Given the description of an element on the screen output the (x, y) to click on. 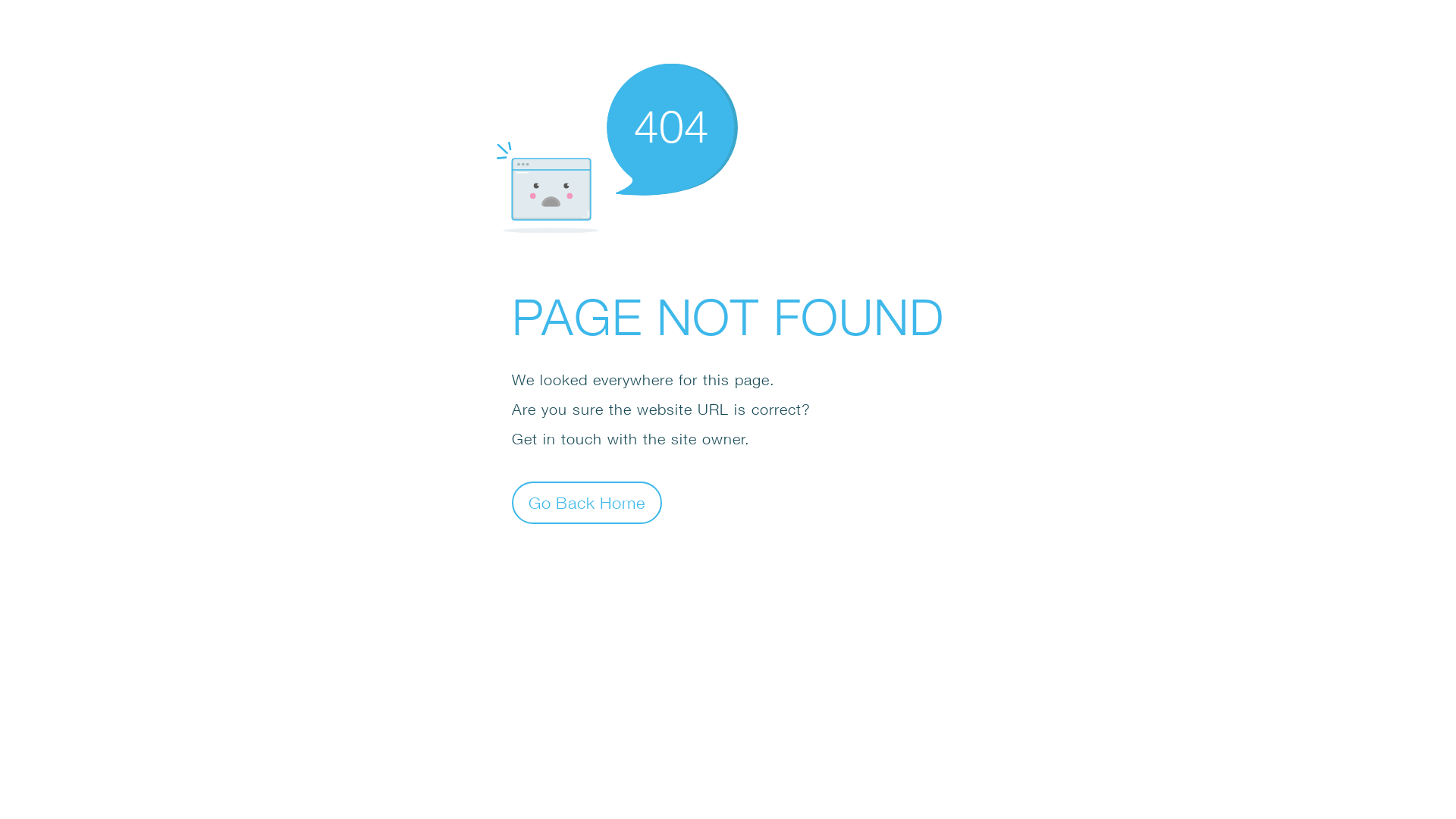
Go Back Home Element type: text (586, 502)
